Given the description of an element on the screen output the (x, y) to click on. 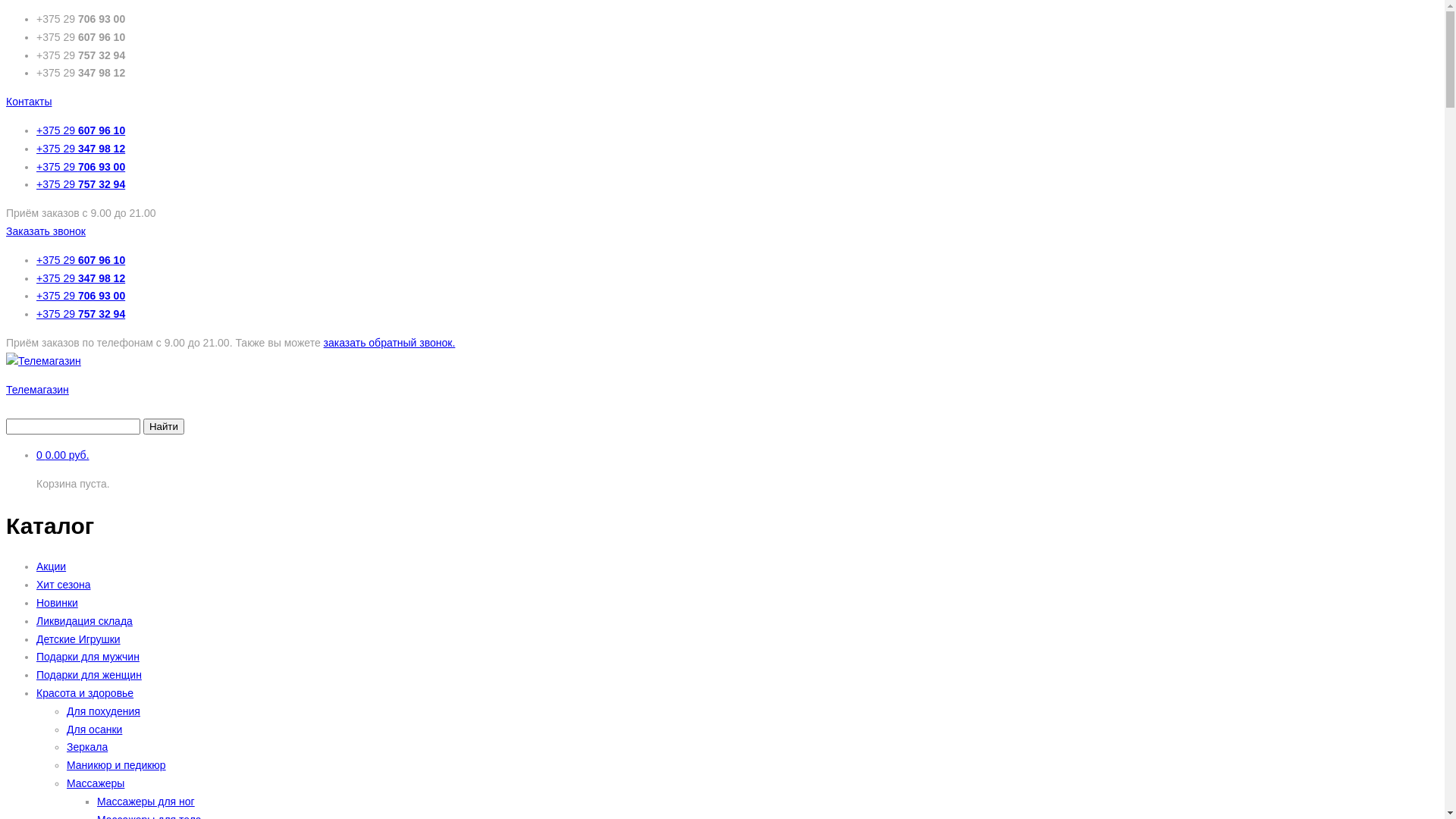
+375 29 757 32 94 Element type: text (80, 184)
+375 29 757 32 94 Element type: text (80, 313)
+375 29 347 98 12 Element type: text (80, 278)
+375 29 706 93 00 Element type: text (80, 295)
+375 29 607 96 10 Element type: text (80, 260)
+375 29 706 93 00 Element type: text (80, 166)
+375 29 607 96 10 Element type: text (80, 130)
+375 29 347 98 12 Element type: text (80, 148)
